Given the description of an element on the screen output the (x, y) to click on. 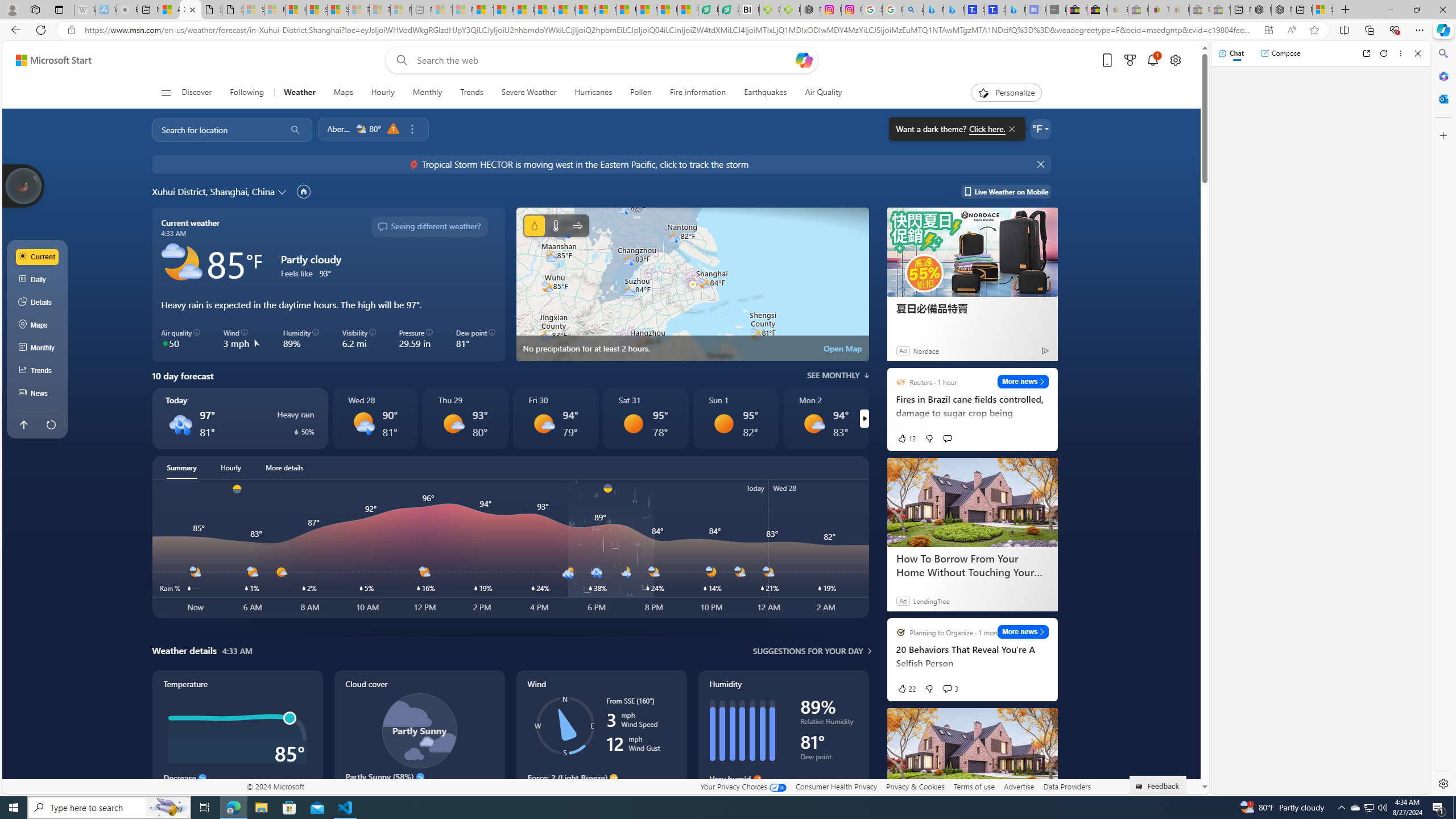
Earthquakes (765, 92)
Air Quality (824, 92)
Trends (471, 92)
Maps (37, 325)
Wind 3 mph (241, 338)
Monthly (427, 92)
Pollen (641, 92)
